Given the description of an element on the screen output the (x, y) to click on. 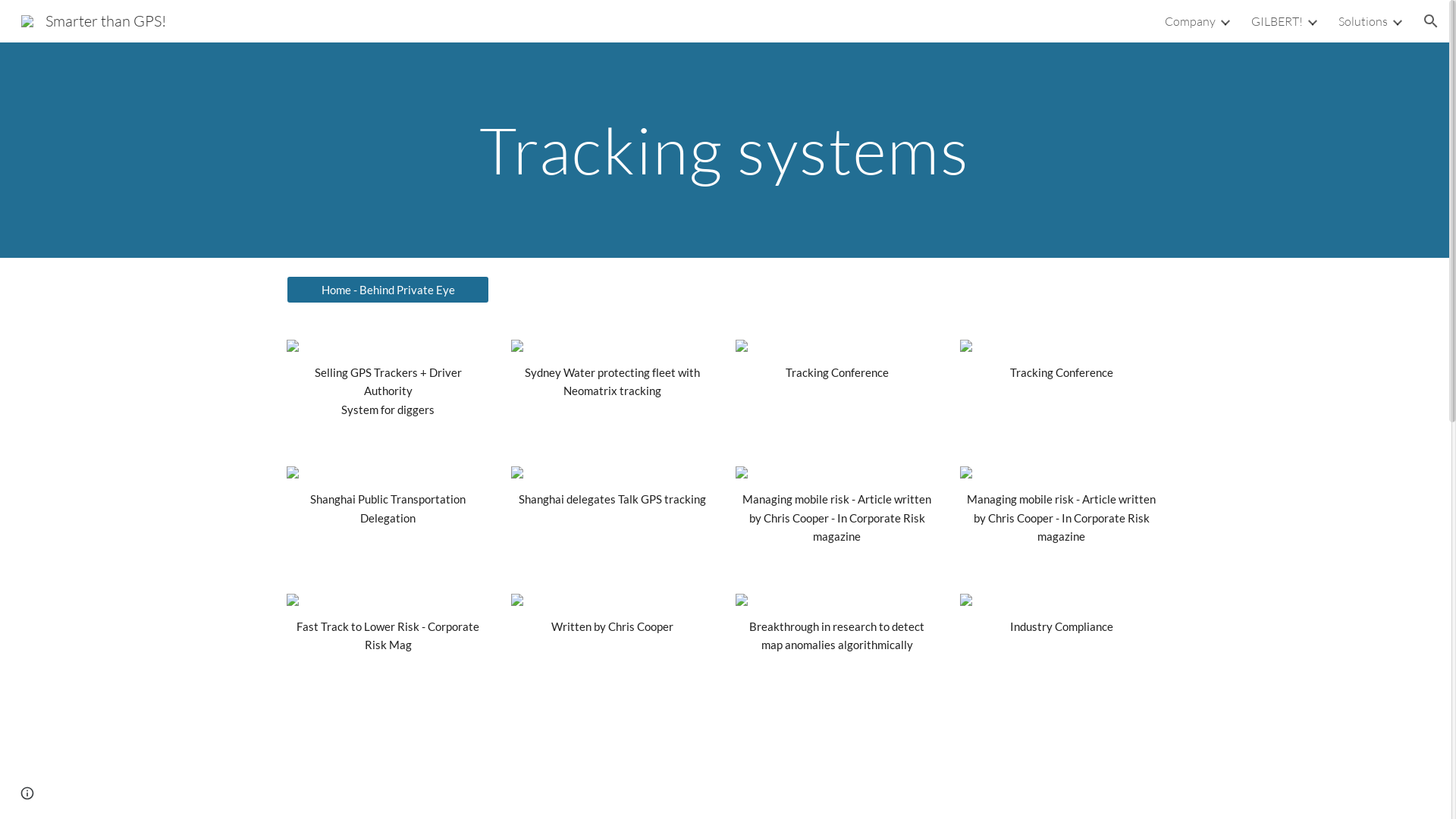
Expand/Collapse Element type: hover (1224, 20)
Home - Behind Private Eye Element type: text (387, 289)
Solutions Element type: text (1362, 20)
Smarter than GPS! Element type: text (93, 18)
Company Element type: text (1189, 20)
GILBERT! Element type: text (1276, 20)
Expand/Collapse Element type: hover (1311, 20)
Expand/Collapse Element type: hover (1396, 20)
